Given the description of an element on the screen output the (x, y) to click on. 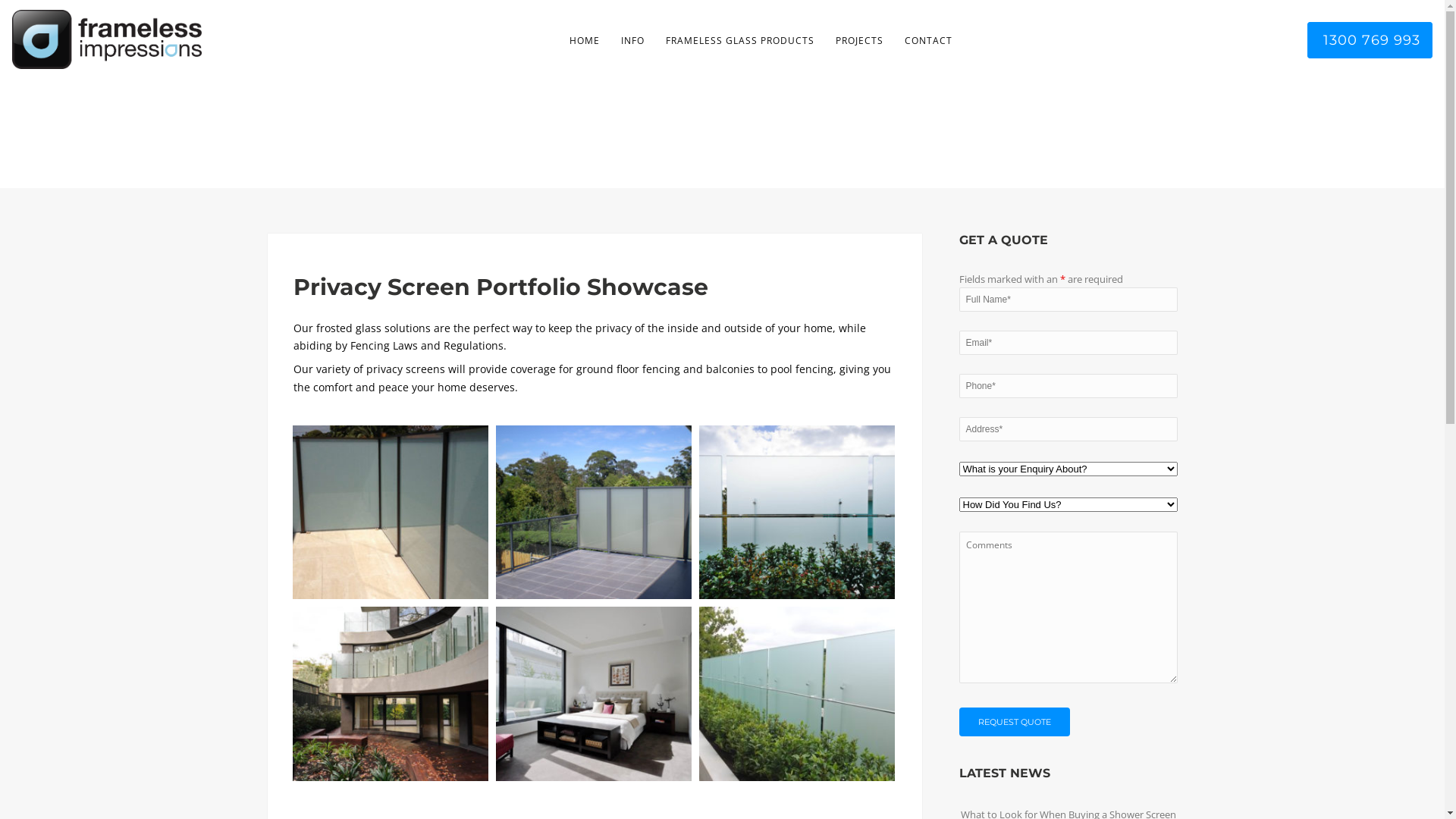
CONTACT Element type: text (927, 40)
INFO Element type: text (631, 40)
HOME Element type: text (583, 40)
FRAMELESS GLASS PRODUCTS Element type: text (740, 40)
1300 769 993 Element type: text (1369, 39)
PROJECTS Element type: text (859, 40)
